Given the description of an element on the screen output the (x, y) to click on. 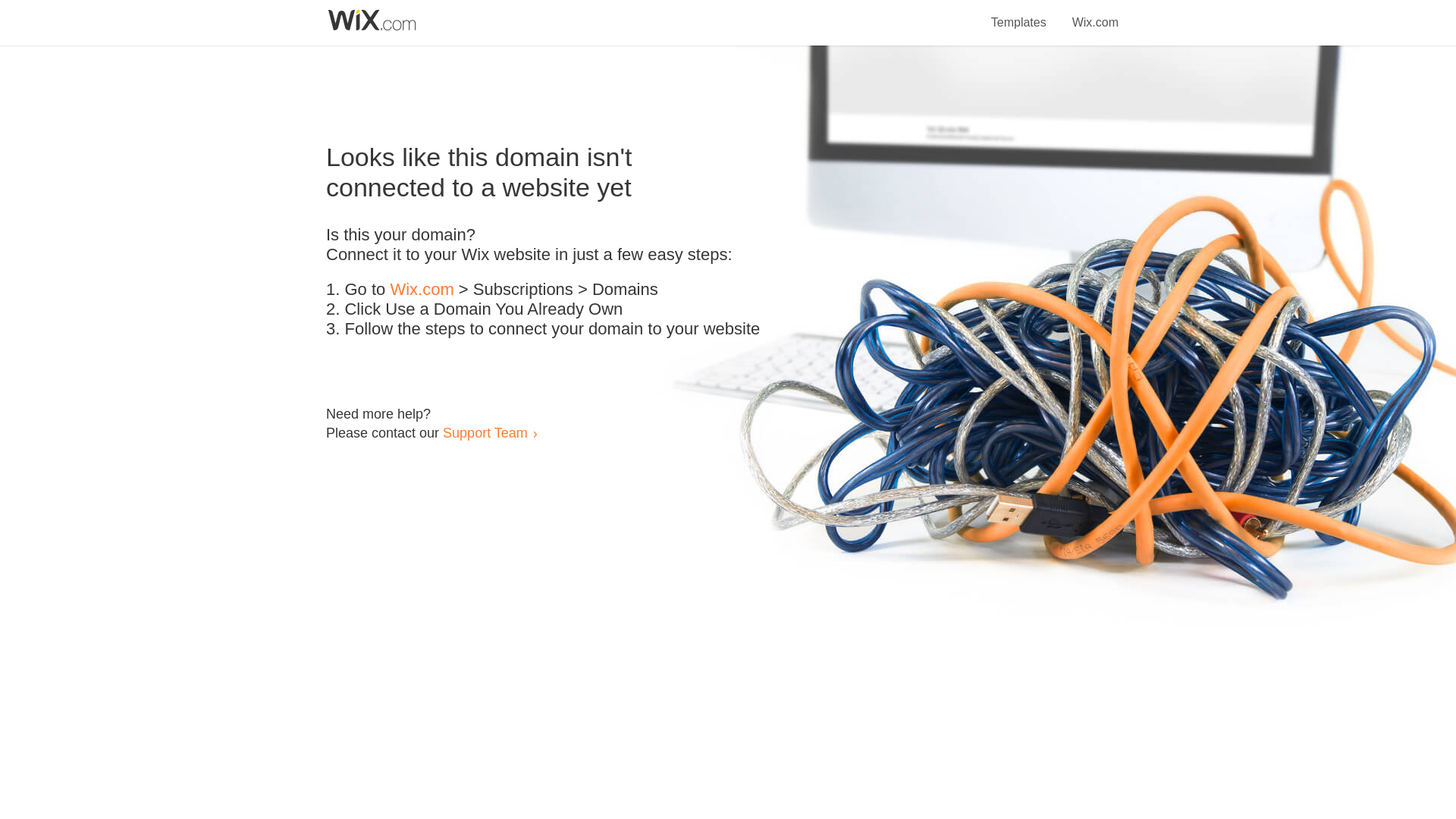
Templates (1018, 14)
Wix.com (421, 289)
Wix.com (1095, 14)
Support Team (484, 432)
